Given the description of an element on the screen output the (x, y) to click on. 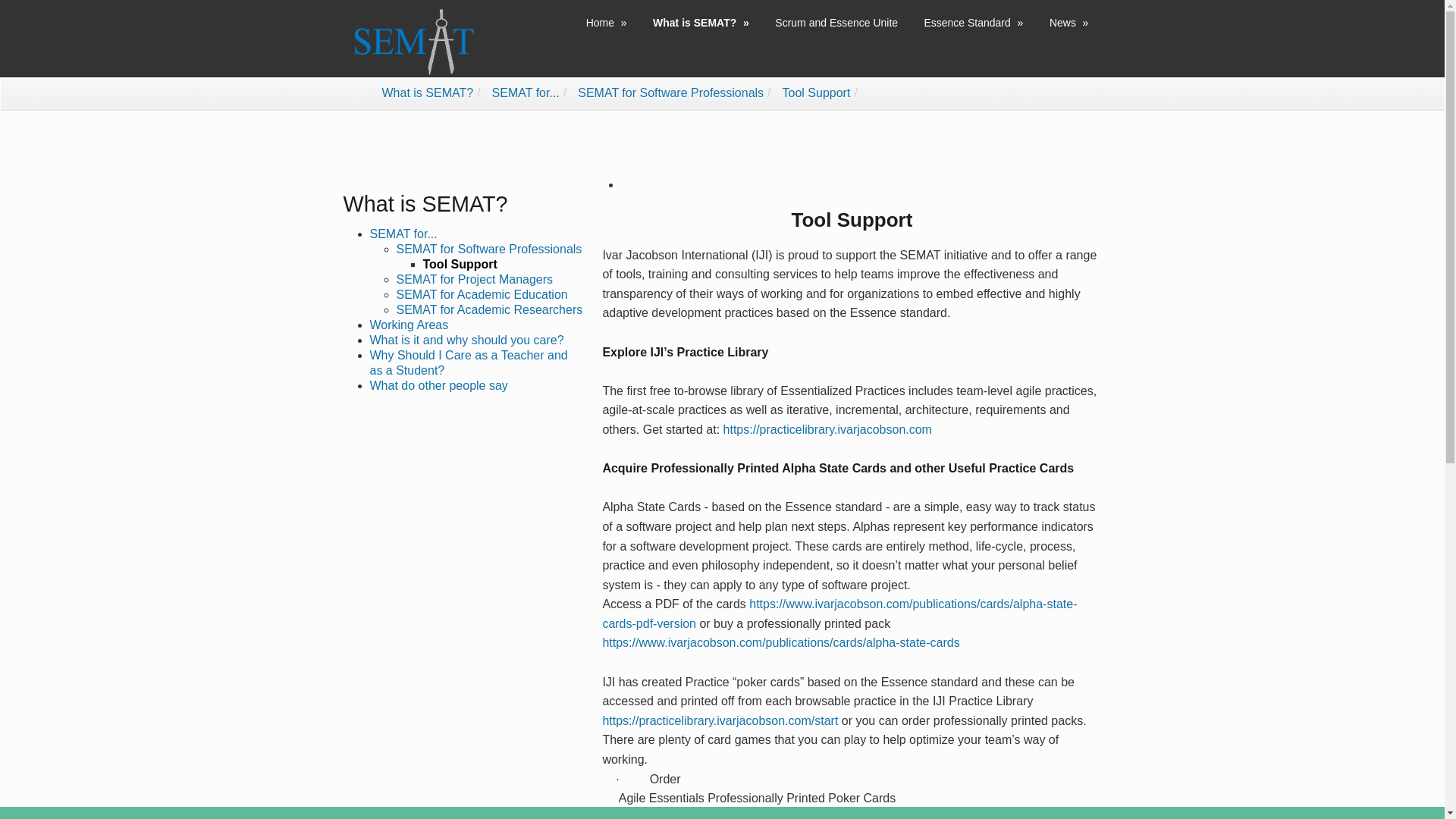
SEMAT for Software Professionals (488, 248)
SEMAT for... (403, 233)
SEMAT for Software Professionals (670, 92)
What is SEMAT? (424, 203)
SEMAT for Academic Education (481, 294)
go-to SEMAT (410, 41)
What is SEMAT? (427, 92)
SEMAT for... (525, 92)
Tool Support (816, 92)
SEMAT for Project Managers (474, 278)
Scrum and Essence Unite (838, 22)
Tool Support (460, 264)
SEMAT for Academic Researchers (489, 309)
